Given the description of an element on the screen output the (x, y) to click on. 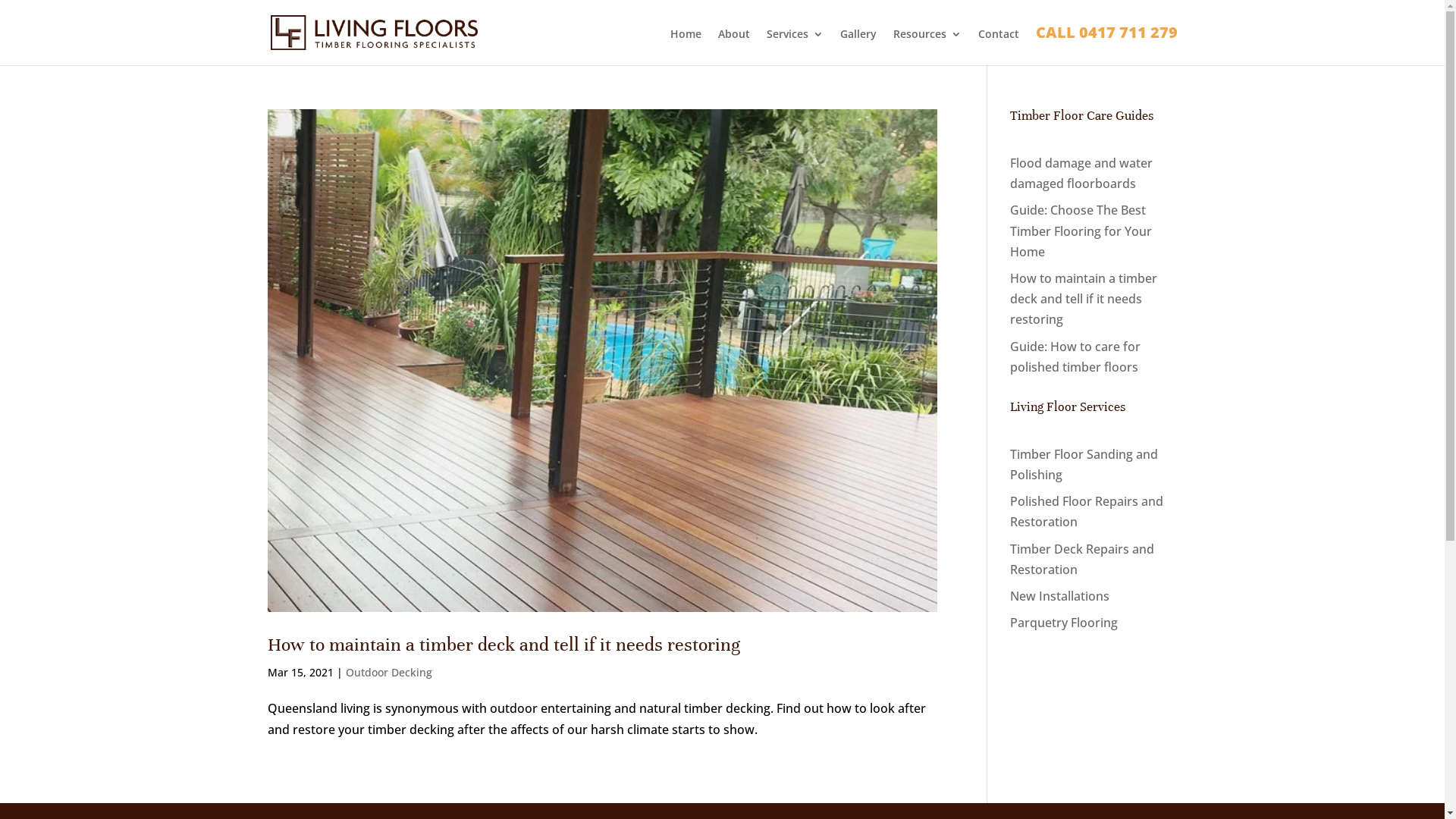
Polished Floor Repairs and Restoration Element type: text (1086, 511)
Home Element type: text (685, 46)
How to maintain a timber deck and tell if it needs restoring Element type: text (502, 644)
Guide: Choose The Best Timber Flooring for Your Home Element type: text (1080, 230)
Guide: How to care for polished timber floors Element type: text (1075, 356)
Flood damage and water damaged floorboards Element type: text (1081, 172)
CALL 0417 711 279 Element type: text (1106, 45)
Timber Deck Repairs and Restoration Element type: text (1082, 558)
Parquetry Flooring Element type: text (1063, 622)
Gallery Element type: text (858, 46)
How to maintain a timber deck and tell if it needs restoring Element type: text (1083, 298)
Resources Element type: text (927, 46)
New Installations Element type: text (1059, 595)
Contact Element type: text (998, 46)
Services Element type: text (793, 46)
About Element type: text (733, 46)
Outdoor Decking Element type: text (388, 672)
Timber Floor Sanding and Polishing Element type: text (1083, 464)
